Given the description of an element on the screen output the (x, y) to click on. 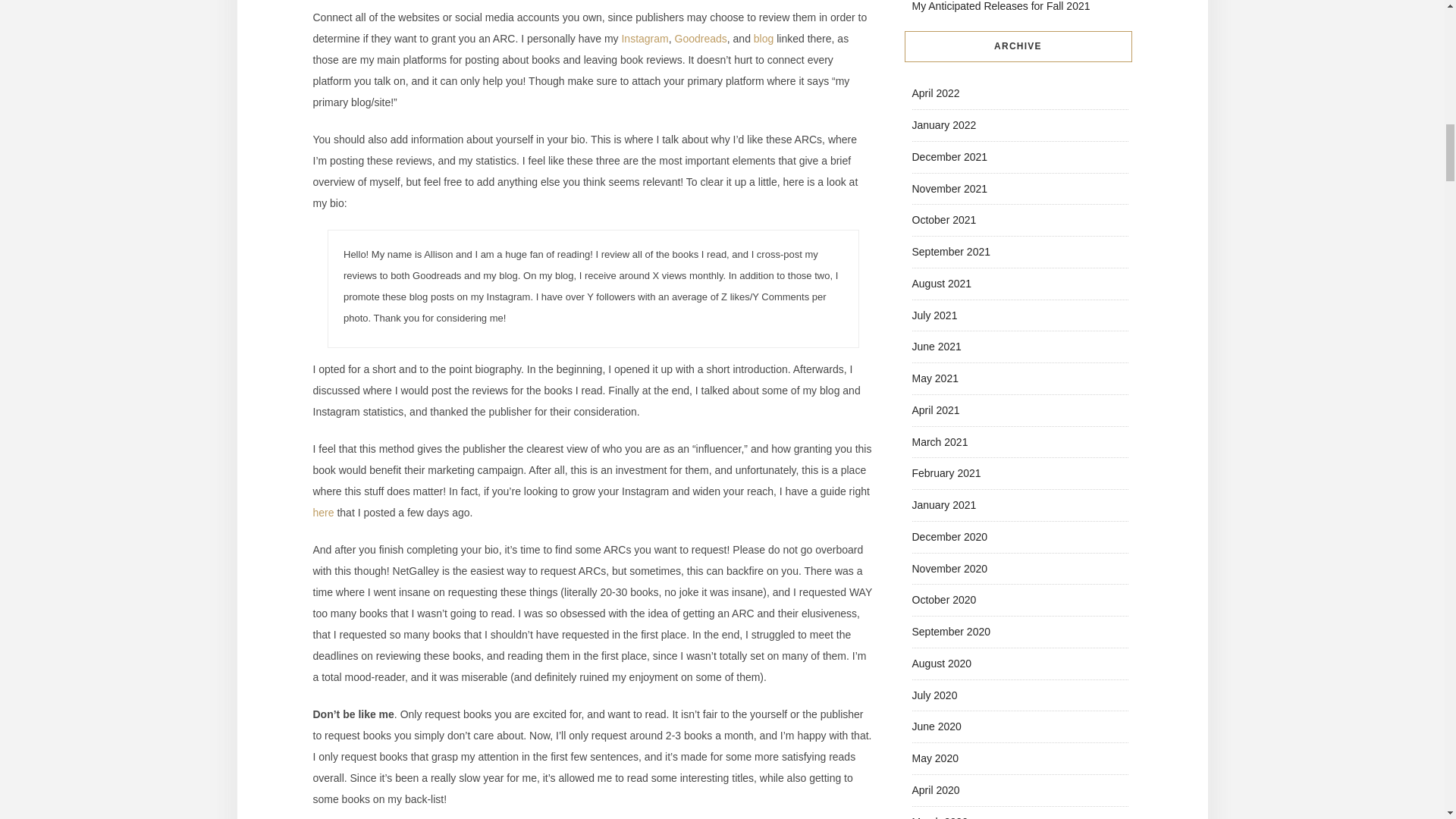
Instagram (644, 38)
Goodreads (700, 38)
blog (763, 38)
here (323, 512)
